Given the description of an element on the screen output the (x, y) to click on. 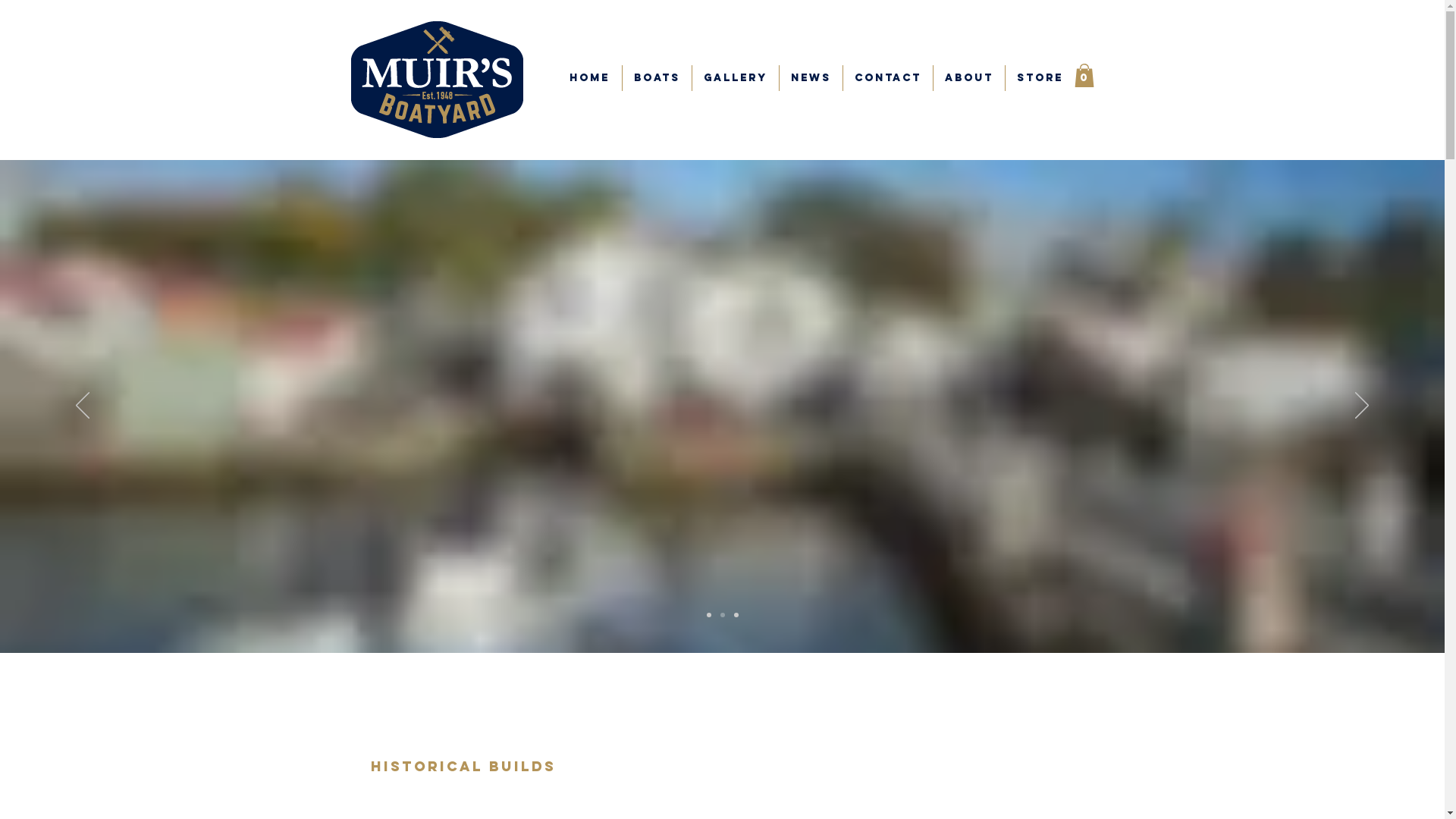
BOATS Element type: text (655, 78)
STORE Element type: text (1039, 78)
0 Element type: text (1083, 75)
GALLERY Element type: text (734, 78)
ABOUT Element type: text (968, 78)
HOME Element type: text (589, 78)
NEWS Element type: text (810, 78)
CONTACT Element type: text (887, 78)
